Given the description of an element on the screen output the (x, y) to click on. 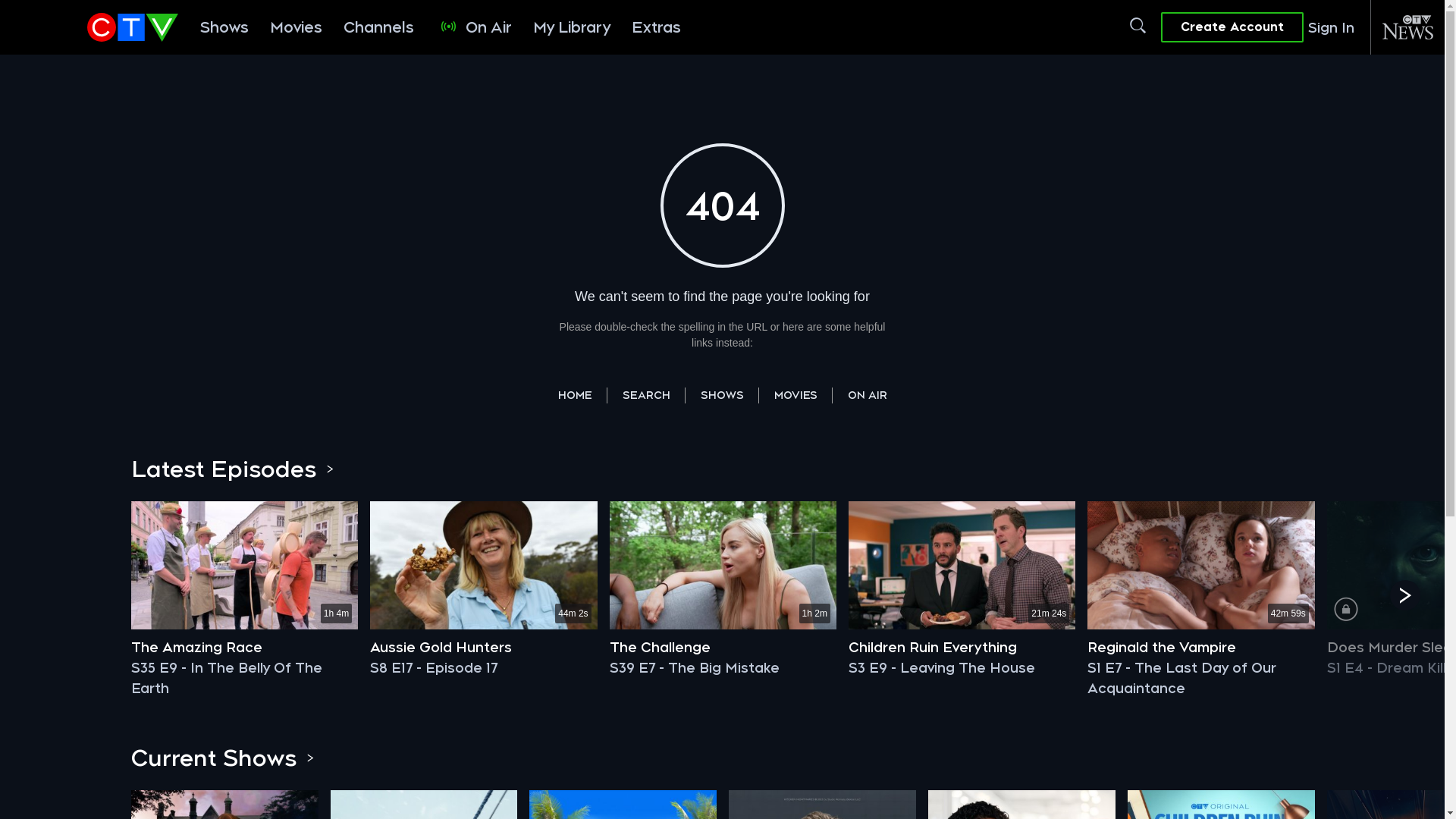
Create Account Element type: text (1232, 27)
SEARCH Element type: text (645, 394)
CTV News Element type: hover (1407, 26)
On Air Element type: text (473, 27)
The Amazing Race Element type: text (243, 647)
In The Belly Of The Earth Element type: hover (244, 564)
My Library Element type: text (571, 27)
Current Shows Element type: text (217, 757)
SHOWS Element type: text (721, 394)
Latest Episodes Element type: hover (329, 468)
Leaving The House Element type: hover (961, 564)
Reginald the Vampire Element type: text (1199, 647)
Channels Element type: text (378, 27)
Shows Element type: text (223, 27)
The Last Day of Our Acquaintance Element type: hover (1200, 564)
Children Ruin Everything Element type: text (960, 647)
HOME Element type: text (575, 394)
Current Shows Element type: hover (310, 756)
Aussie Gold Hunters Element type: text (482, 647)
Extras Element type: text (656, 27)
Episode 17 Element type: hover (483, 564)
Latest Episodes Element type: text (227, 468)
The Challenge Element type: text (721, 647)
Sign In Element type: text (1329, 27)
ON AIR Element type: text (867, 394)
MOVIES Element type: text (794, 394)
Movies Element type: text (295, 27)
The Big Mistake Element type: hover (722, 564)
